Given the description of an element on the screen output the (x, y) to click on. 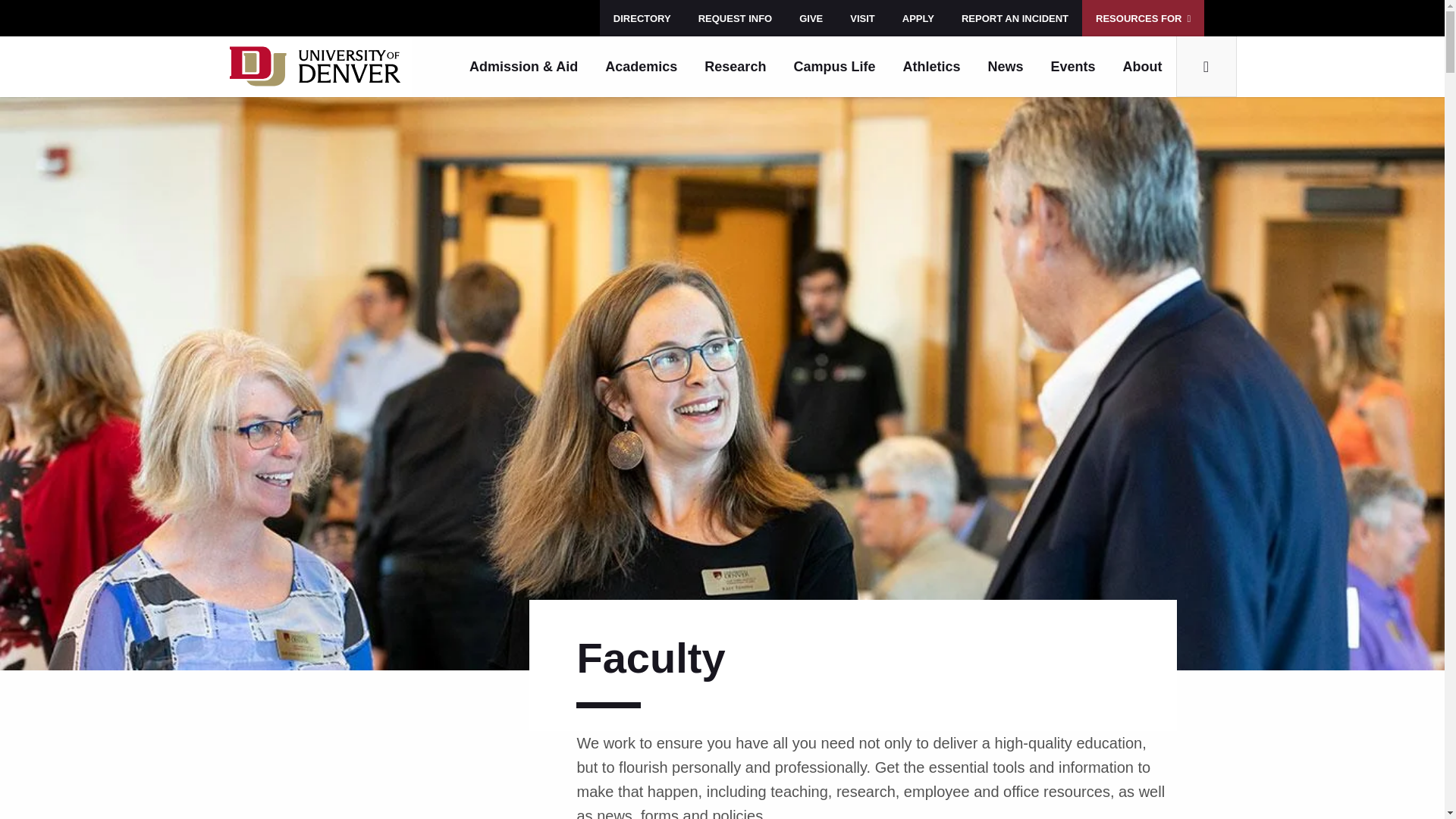
GIVE (810, 18)
Request Information about the University of Denver (735, 18)
Find your program representative and schedule a visit (861, 18)
REPORT AN INCIDENT (1014, 18)
Admission and Aid (523, 66)
DU Directory (641, 18)
Academics (640, 66)
Apply to the University of Denver (917, 18)
VISIT (861, 18)
DIRECTORY (641, 18)
APPLY (917, 18)
REQUEST INFO (735, 18)
RESOURCES FOR (1142, 18)
Give to the University of Denver (810, 18)
